Given the description of an element on the screen output the (x, y) to click on. 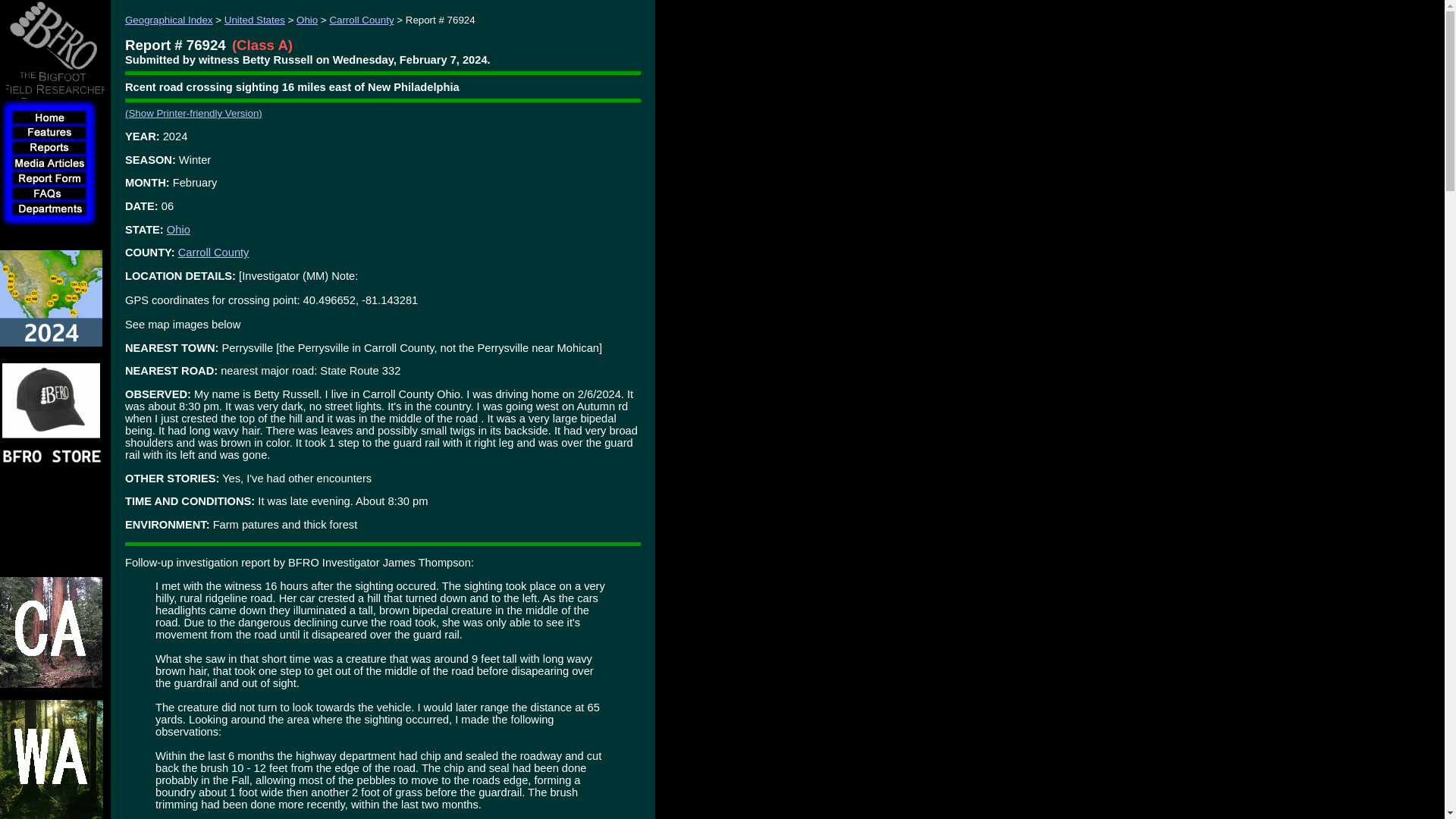
Ohio (178, 229)
Geographical Index (168, 19)
Carroll County (361, 19)
United States (254, 19)
Carroll County (212, 252)
Ohio (307, 19)
